Given the description of an element on the screen output the (x, y) to click on. 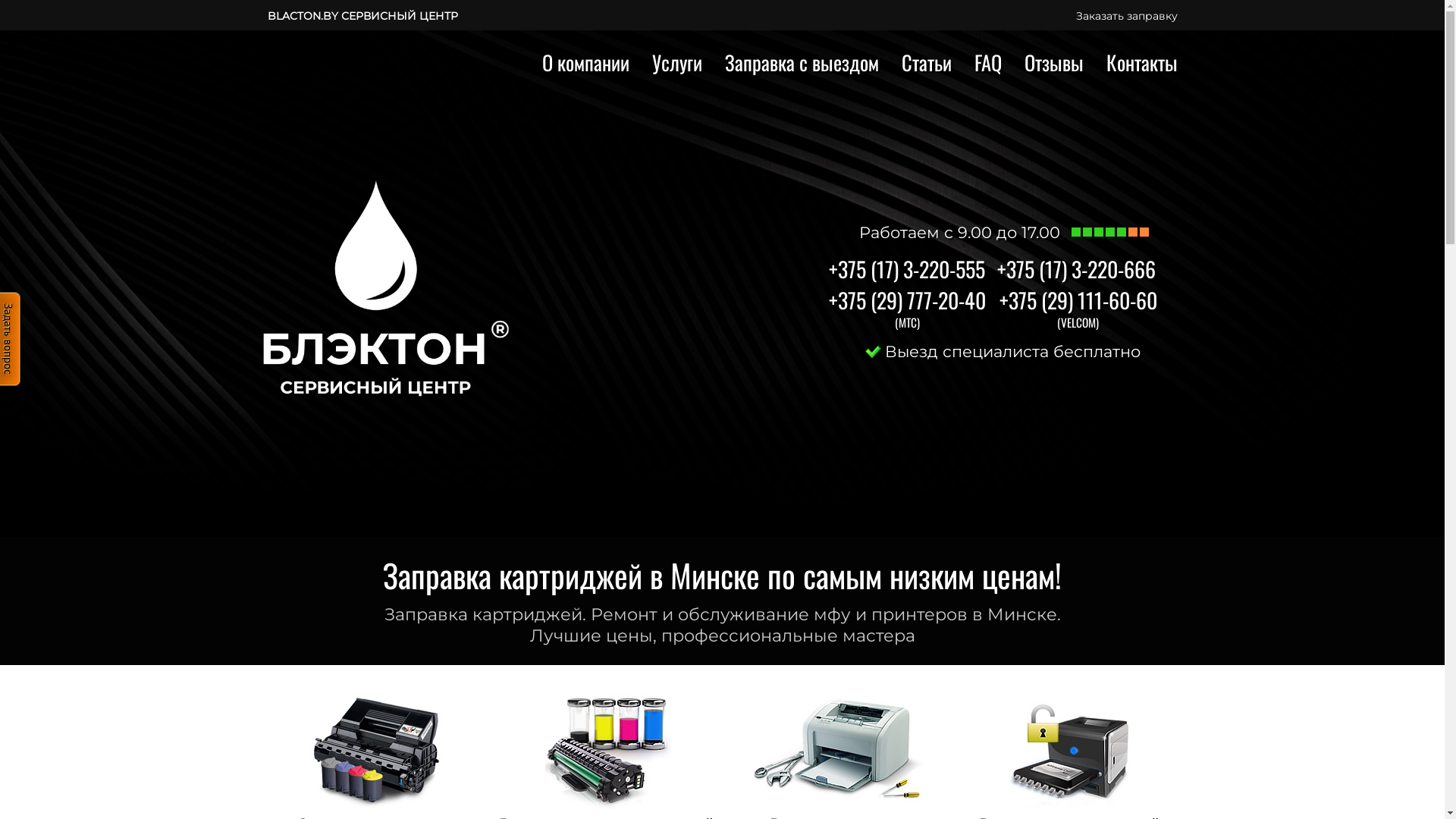
+375 (29) 111-60-60
(VELCOM) Element type: text (1078, 299)
+375 (17) 3-220-555 Element type: text (906, 268)
FAQ Element type: text (987, 62)
+375 (17) 3-220-666 Element type: text (1075, 268)
